Given the description of an element on the screen output the (x, y) to click on. 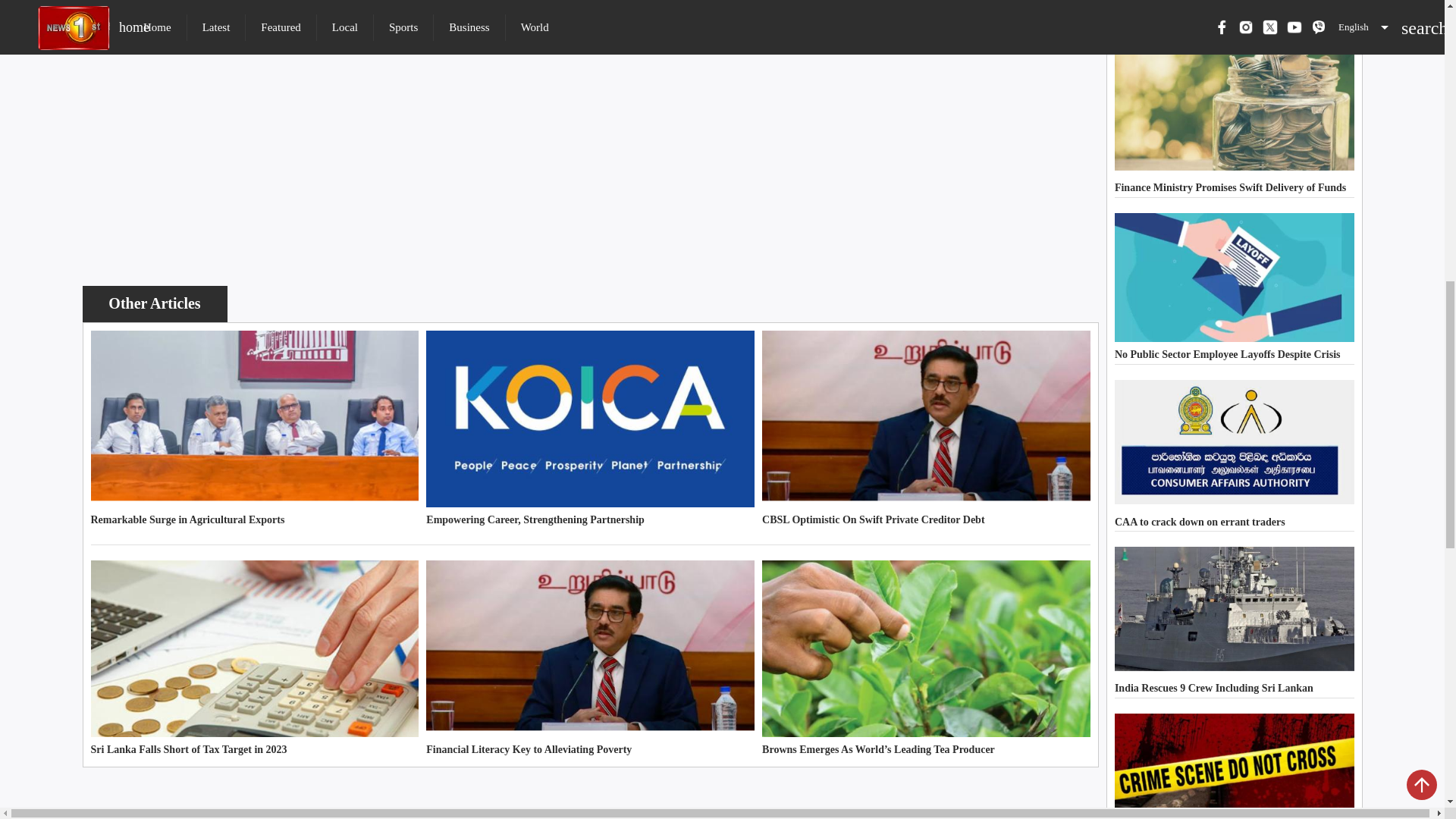
CBSL Optimistic On Swift Private Creditor Debt (925, 429)
Advertisement (590, 175)
No Public Sector Employee Layoffs Despite Crisis (1234, 287)
Remarkable Surge in Agricultural Exports (254, 429)
Advertisement (590, 796)
Loku Patti Suspected in Killing Niroshana (1234, 766)
Financial Literacy Key to Alleviating Poverty (590, 659)
India Rescues 9 Crew Including Sri Lankan (1234, 622)
CAA to crack down on errant traders (1234, 455)
Finance Ministry Promises Swift Delivery of Funds (1234, 121)
Sri Lanka Falls Short of Tax Target in 2023 (254, 659)
Empowering Career, Strengthening Partnership (590, 429)
